Given the description of an element on the screen output the (x, y) to click on. 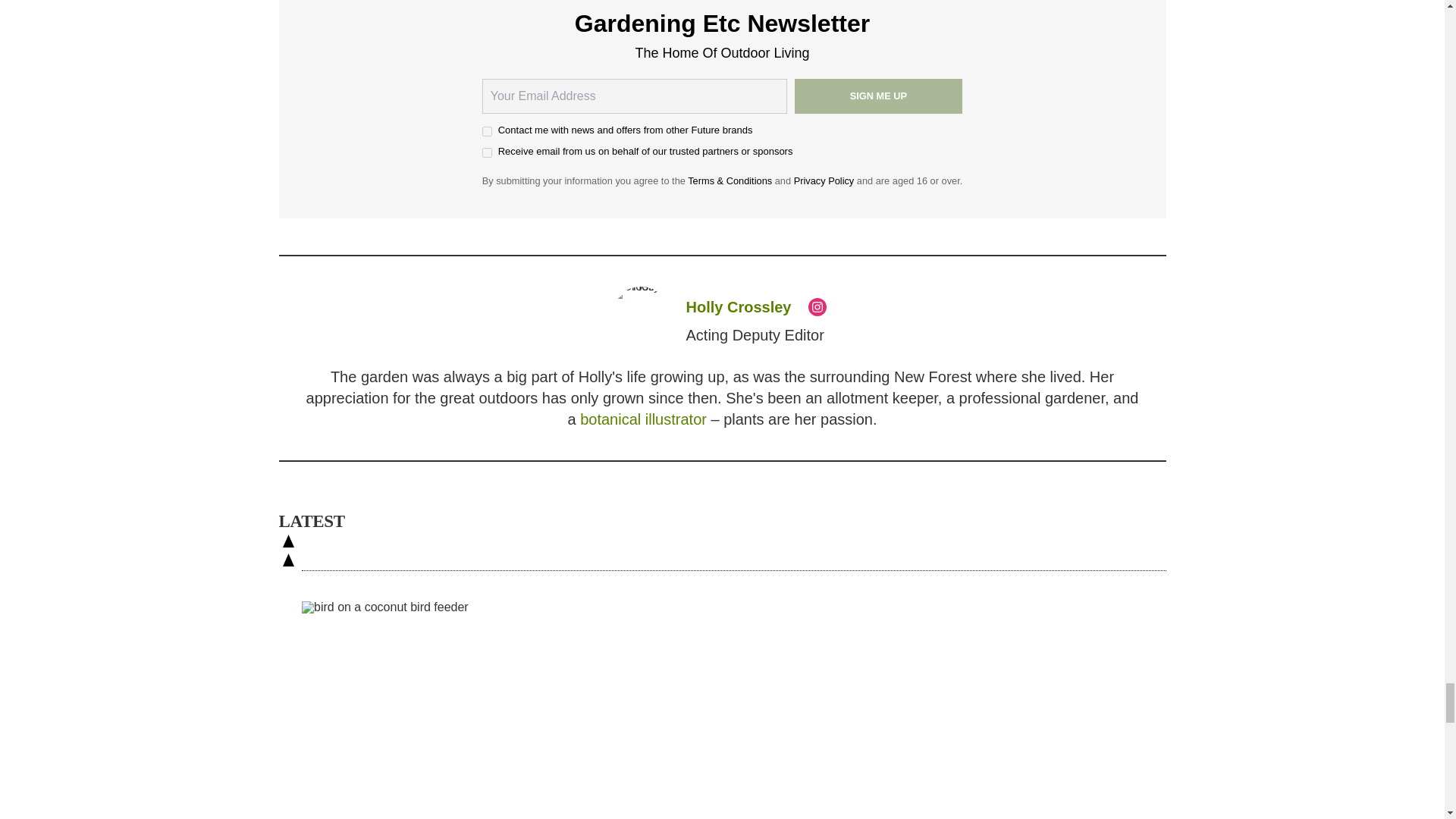
on (486, 153)
Sign me up (878, 95)
on (486, 131)
